Given the description of an element on the screen output the (x, y) to click on. 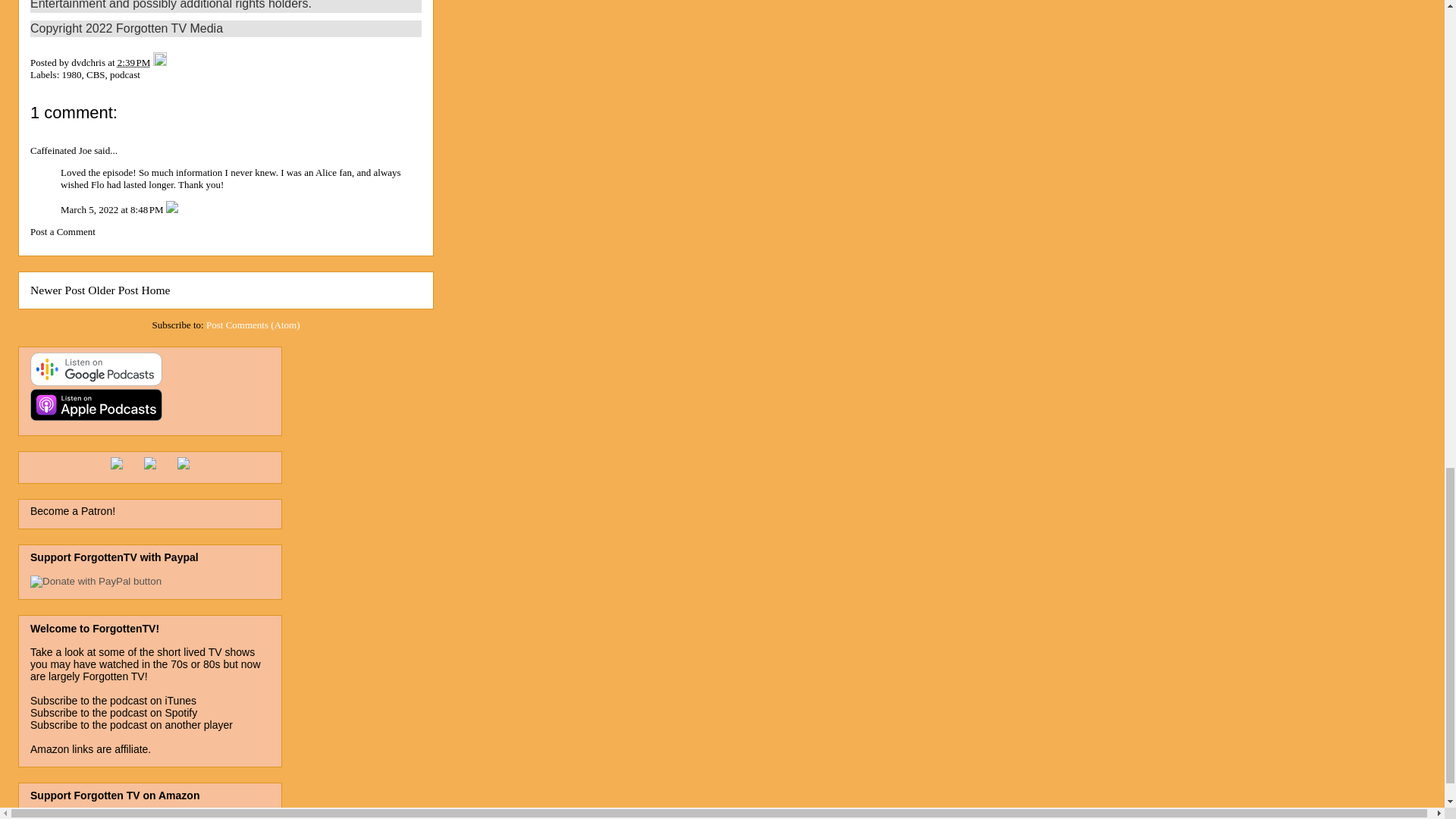
Older Post (112, 289)
Become a Patron! (72, 510)
Delete Comment (171, 209)
comment permalink (113, 209)
podcast (124, 74)
1980 (71, 74)
Subscribe to the podcast on another player (131, 725)
Post a Comment (63, 231)
